Given the description of an element on the screen output the (x, y) to click on. 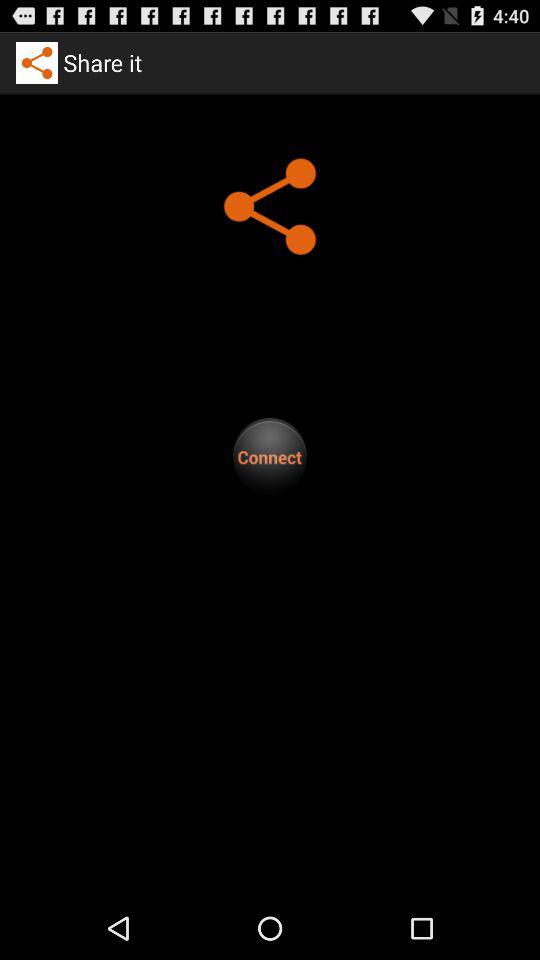
click to connect share it option (270, 456)
